Given the description of an element on the screen output the (x, y) to click on. 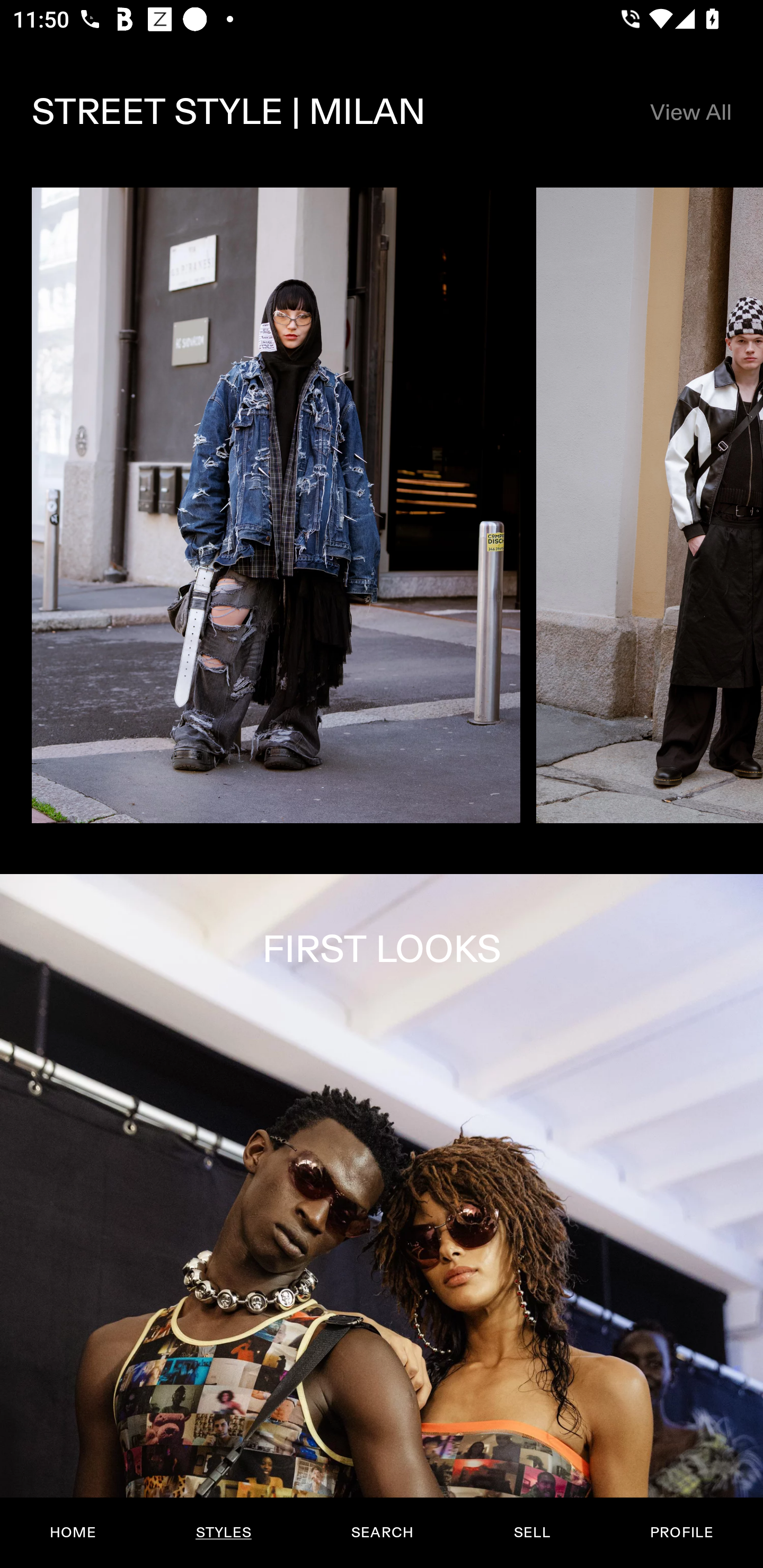
View All (690, 112)
FIRST LOOKS DIESEL FALL '24 (381, 1220)
HOME (72, 1532)
STYLES (222, 1532)
SEARCH (381, 1532)
SELL (531, 1532)
PROFILE (681, 1532)
